Given the description of an element on the screen output the (x, y) to click on. 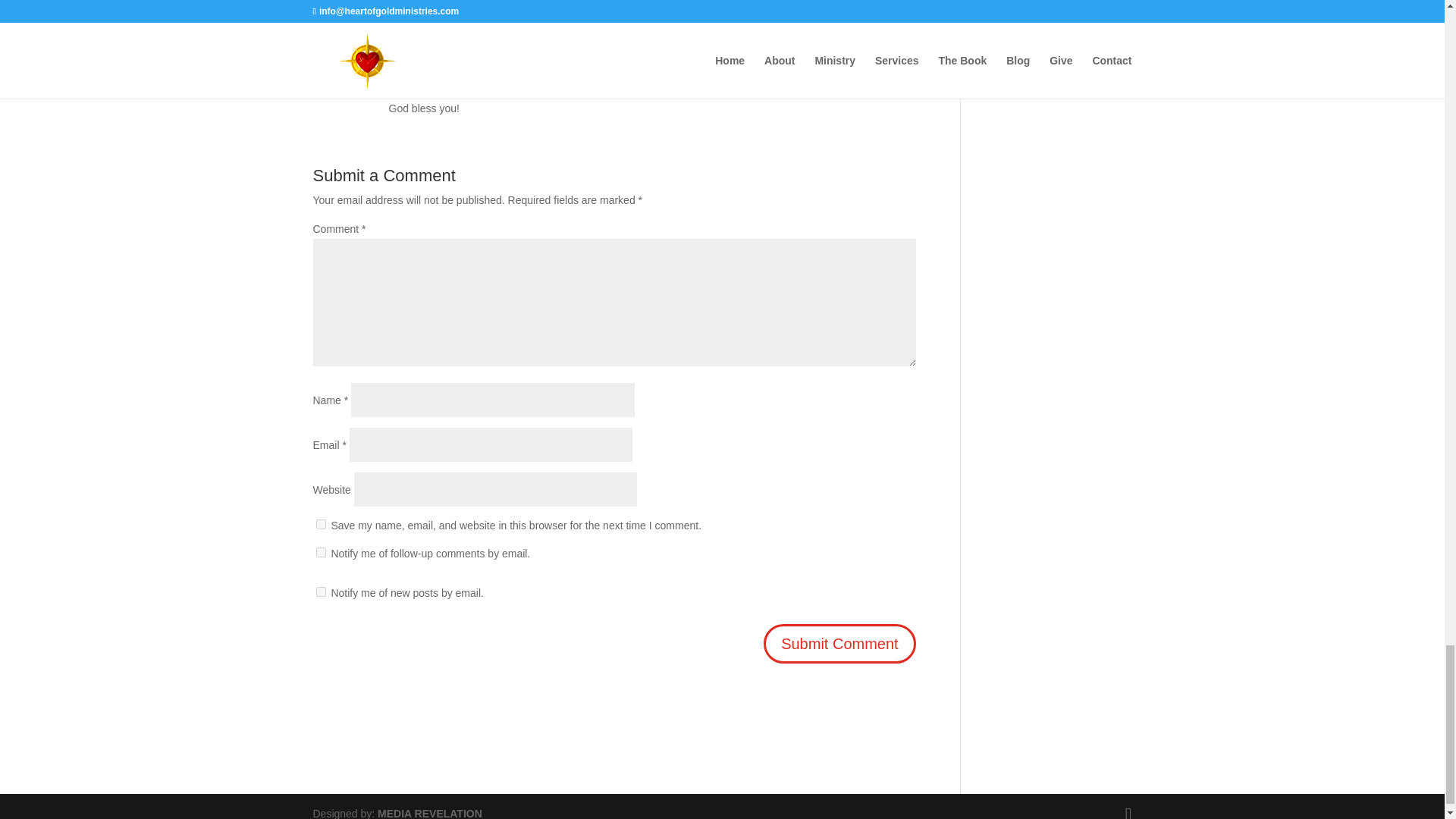
Submit Comment (838, 643)
subscribe (319, 592)
yes (319, 524)
subscribe (319, 552)
MEDIA REVELATION (429, 813)
Submit Comment (838, 643)
